Given the description of an element on the screen output the (x, y) to click on. 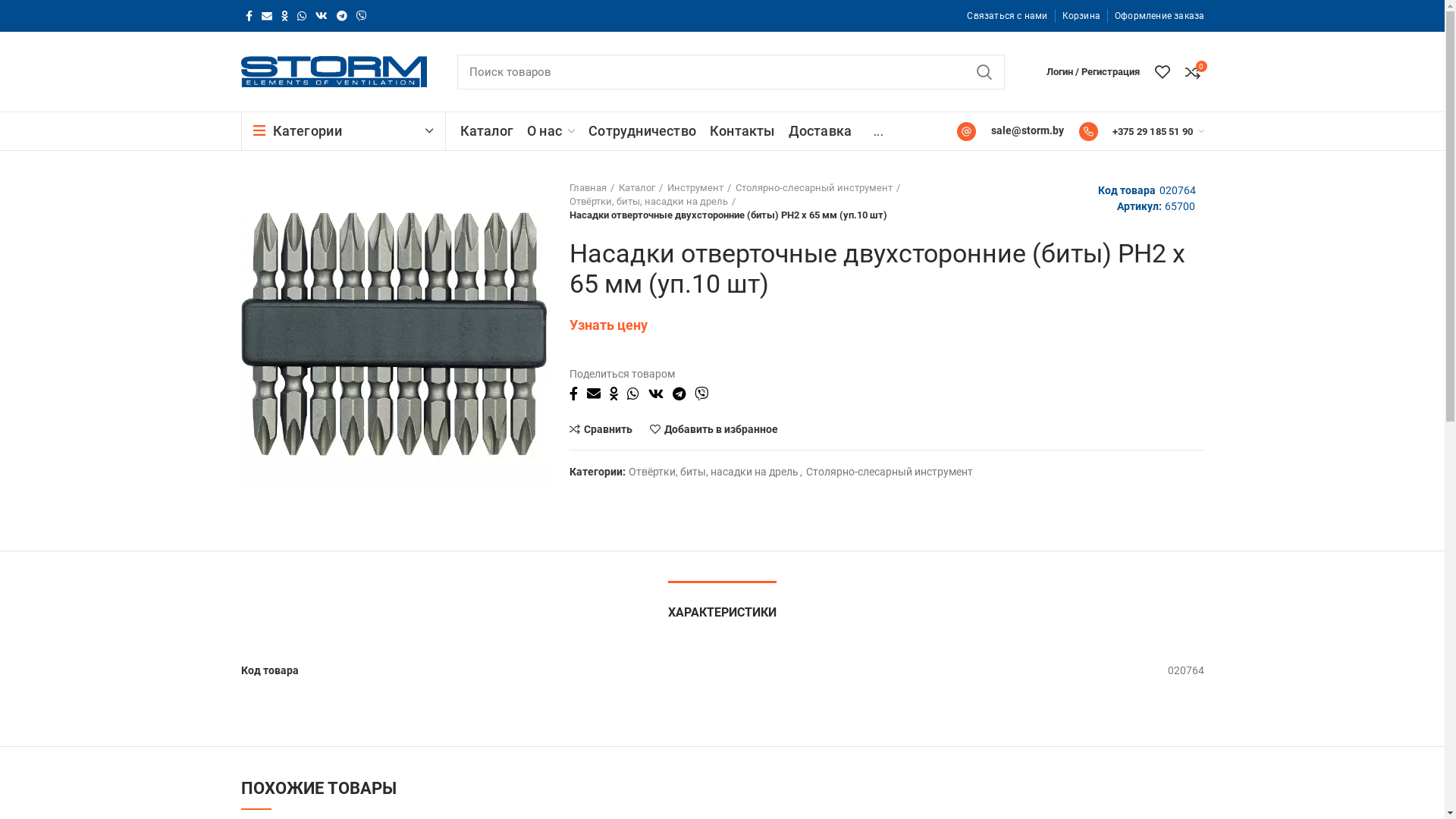
0 Element type: text (1191, 71)
Facebook Element type: text (249, 15)
Viber Element type: text (361, 15)
WhatsApp Element type: text (637, 393)
Viber Element type: text (705, 393)
E-mail Element type: text (597, 393)
Telegram Element type: text (341, 15)
E-mail Element type: text (266, 15)
Facebook Element type: text (577, 393)
WhatsApp Element type: text (301, 15)
+375 29 185 51 90 Element type: text (1158, 131)
Telegram Element type: text (683, 393)
sale@storm.by Element type: text (1010, 130)
